Given the description of an element on the screen output the (x, y) to click on. 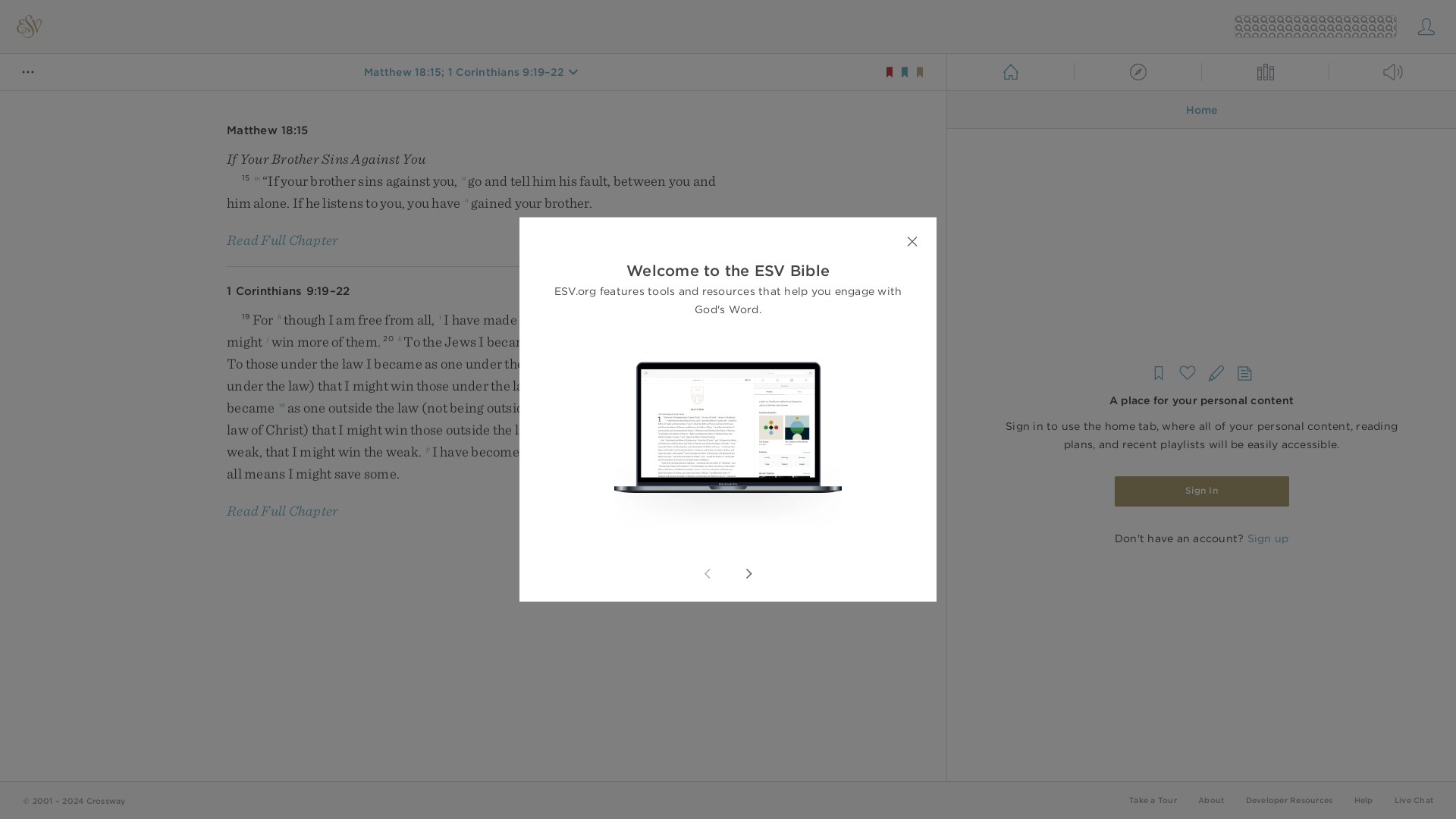
Help (1363, 800)
Sign up (1267, 538)
Take a Tour (1152, 800)
Live Chat (1413, 800)
Read Full Chapter (282, 239)
About (1211, 800)
Sign In (1201, 490)
Developer Resources (1288, 800)
Read Full Chapter (282, 510)
